Given the description of an element on the screen output the (x, y) to click on. 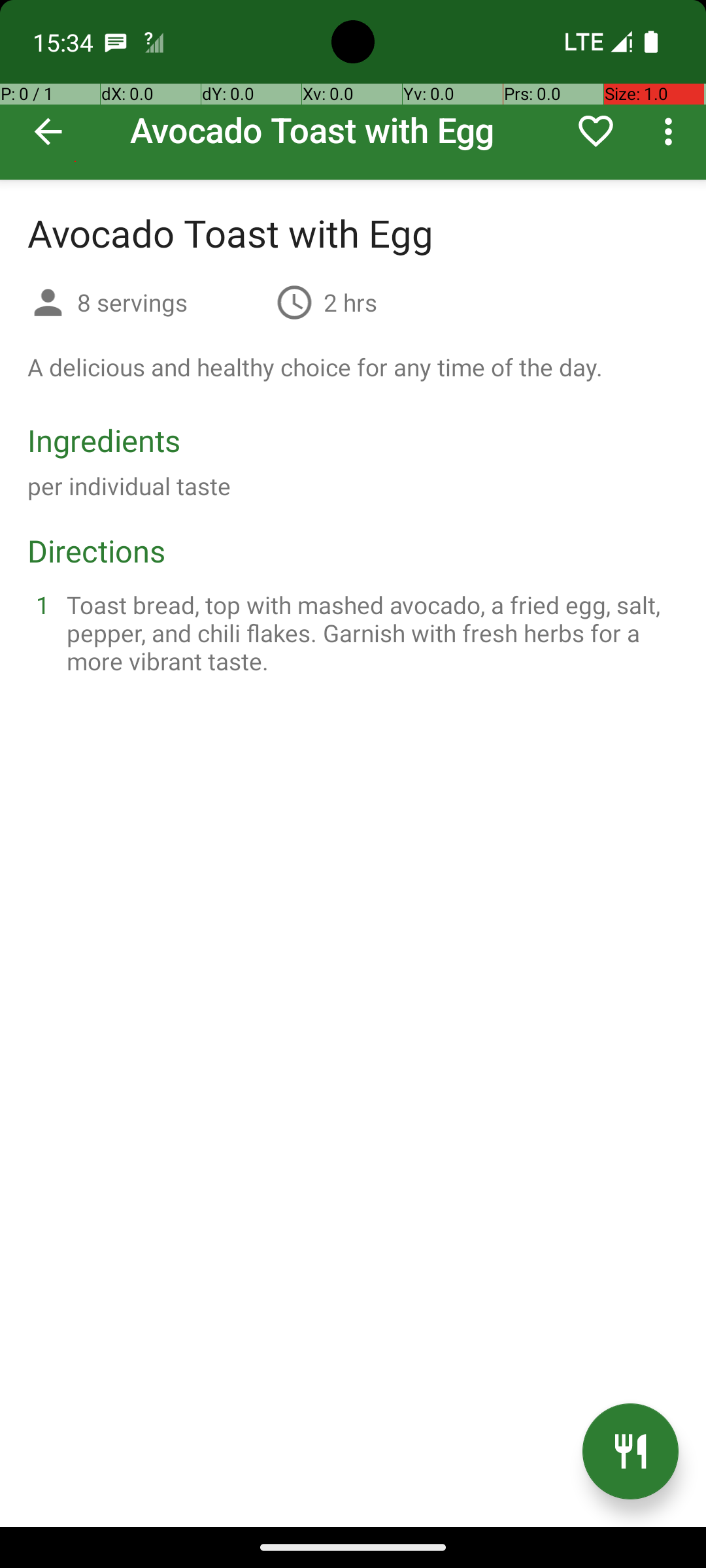
Toast bread, top with mashed avocado, a fried egg, salt, pepper, and chili flakes. Garnish with fresh herbs for a more vibrant taste. Element type: android.widget.TextView (368, 632)
